Given the description of an element on the screen output the (x, y) to click on. 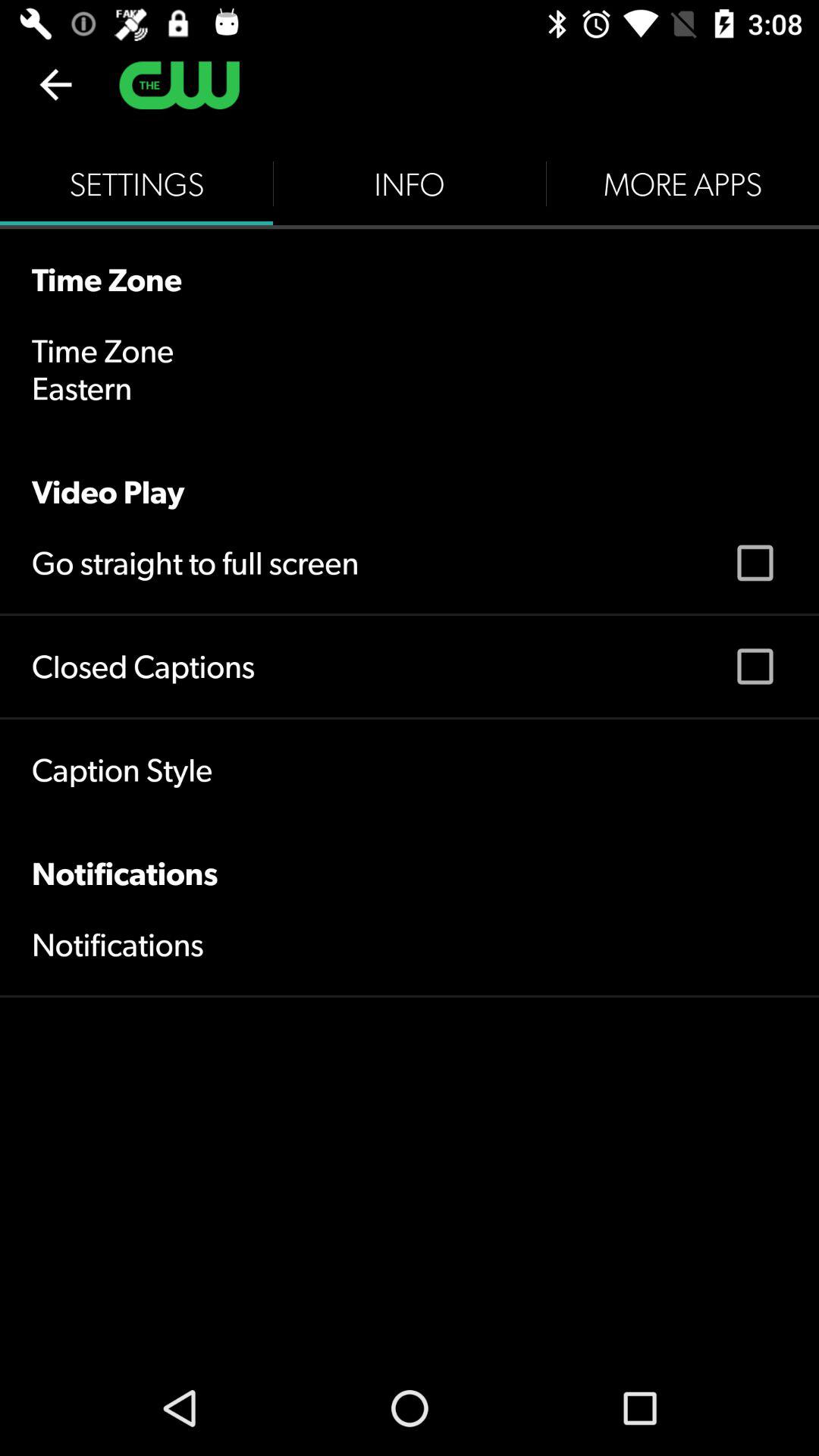
click the icon above time zone icon (136, 184)
